Given the description of an element on the screen output the (x, y) to click on. 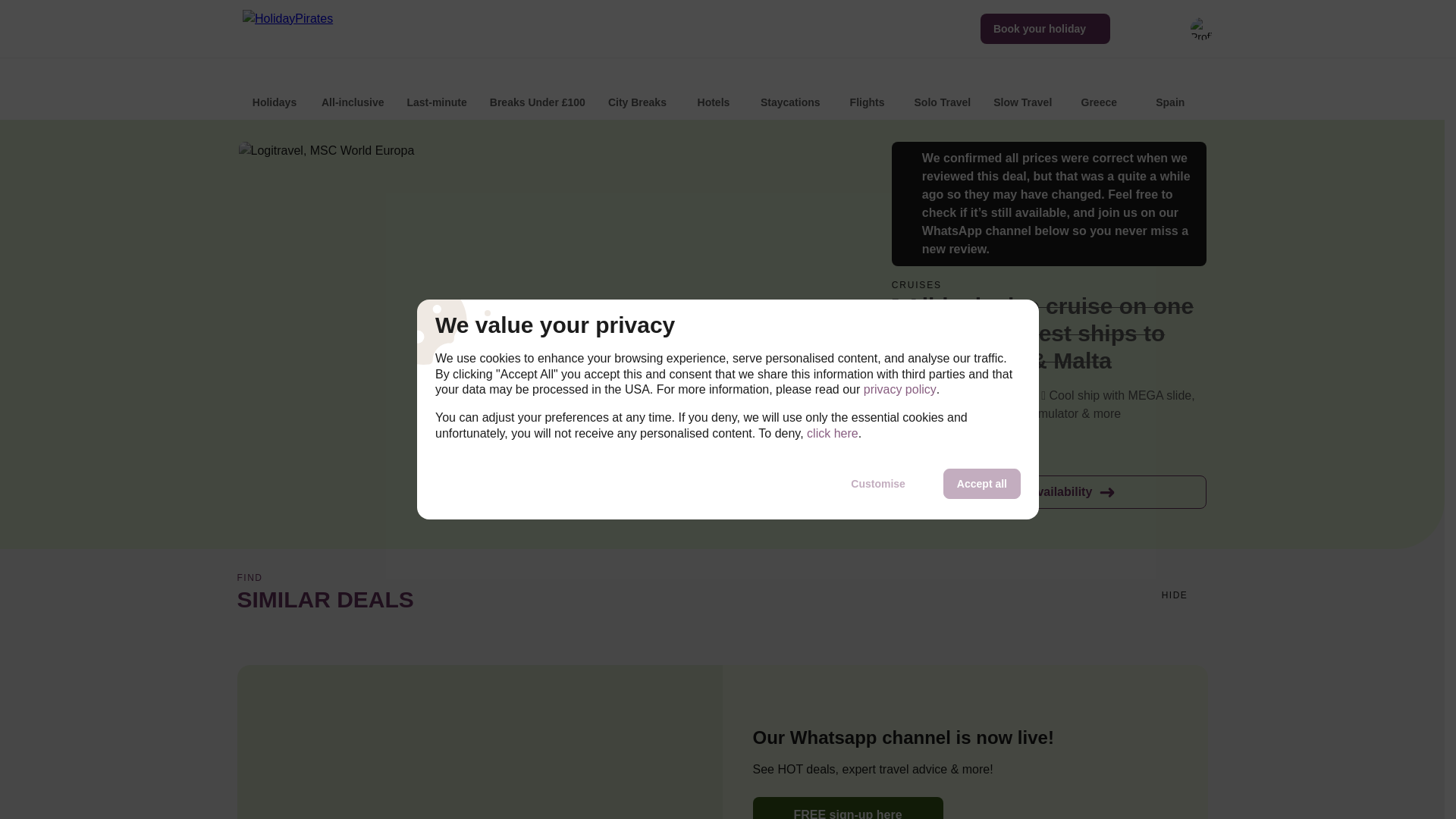
Holidays (274, 91)
Flights (867, 91)
privacy policy (899, 389)
Portugal (1312, 91)
Last-minute (436, 91)
Accept all (981, 483)
Check availability (1049, 491)
All-inclusive (352, 91)
Turkey (1240, 91)
Hotels (713, 91)
